Given the description of an element on the screen output the (x, y) to click on. 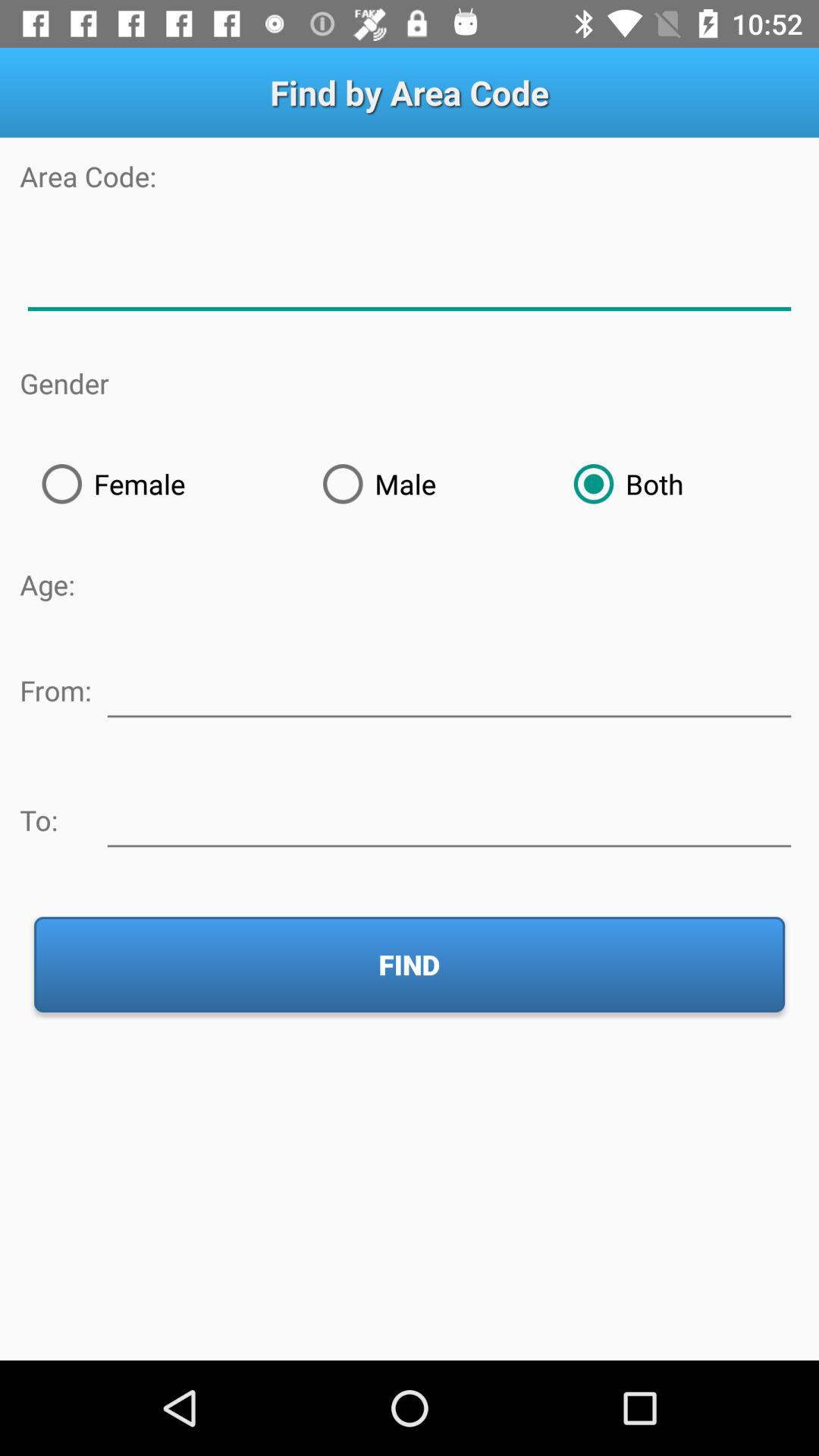
open the item next to both (426, 483)
